Given the description of an element on the screen output the (x, y) to click on. 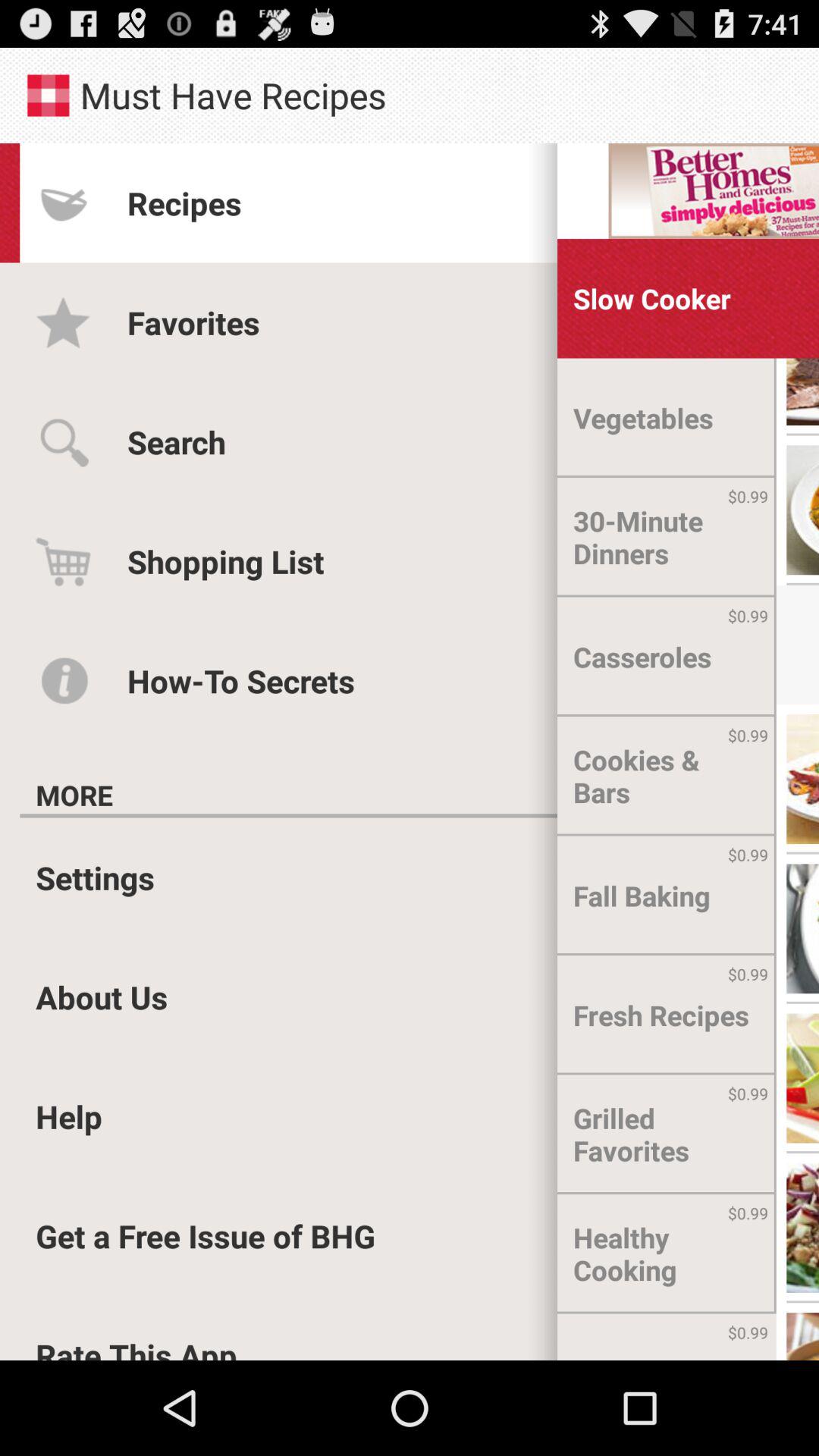
click app next to favorites app (651, 298)
